Given the description of an element on the screen output the (x, y) to click on. 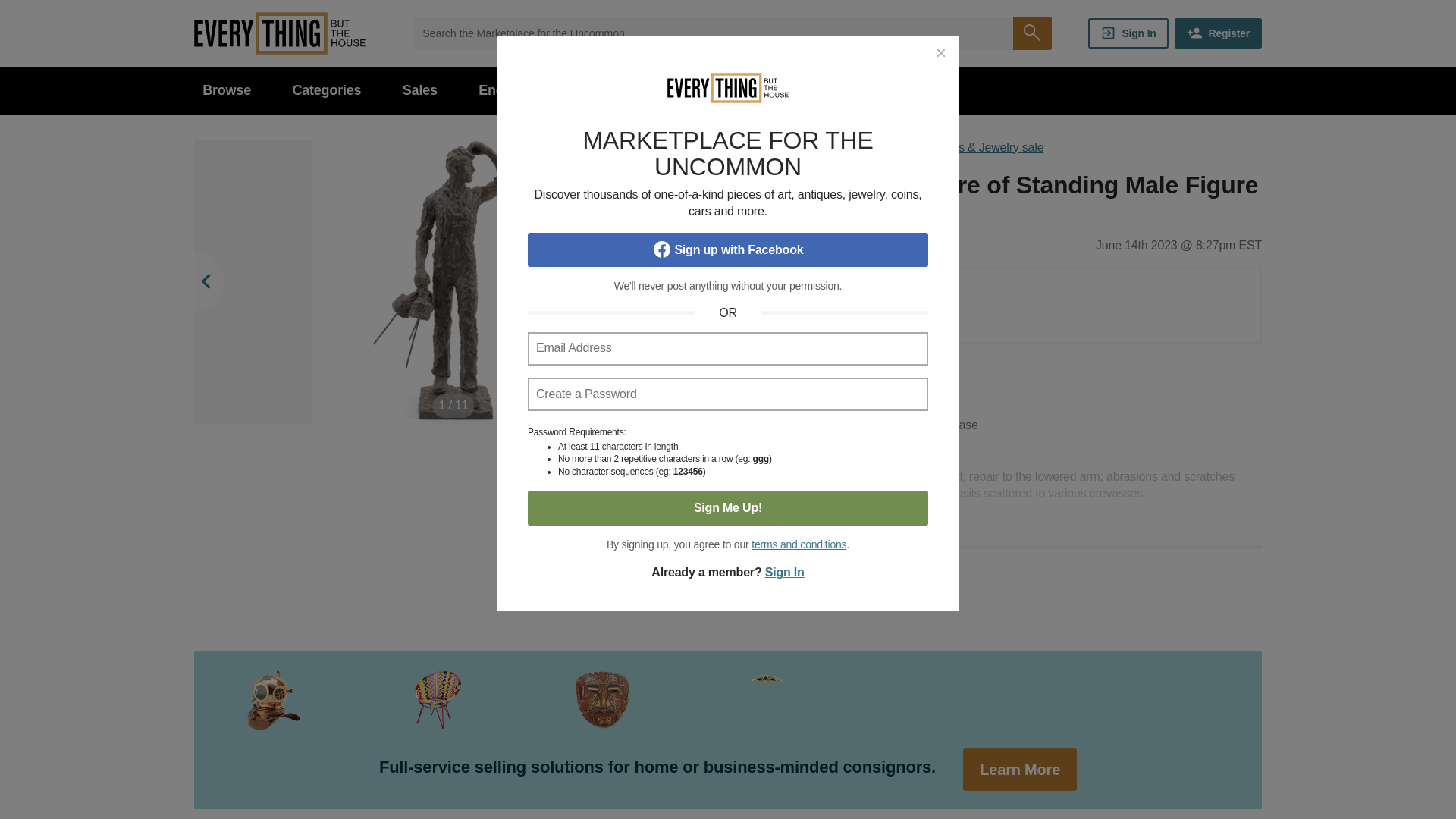
View all items in the Art category (748, 210)
16 Bids (850, 321)
Read More (1002, 561)
Featured (683, 90)
View all items in the Sculptures and Carvings category (821, 210)
Learn More (1019, 769)
View this sale (892, 146)
Sign In (1128, 33)
Popular (589, 90)
Sales (419, 90)
